Given the description of an element on the screen output the (x, y) to click on. 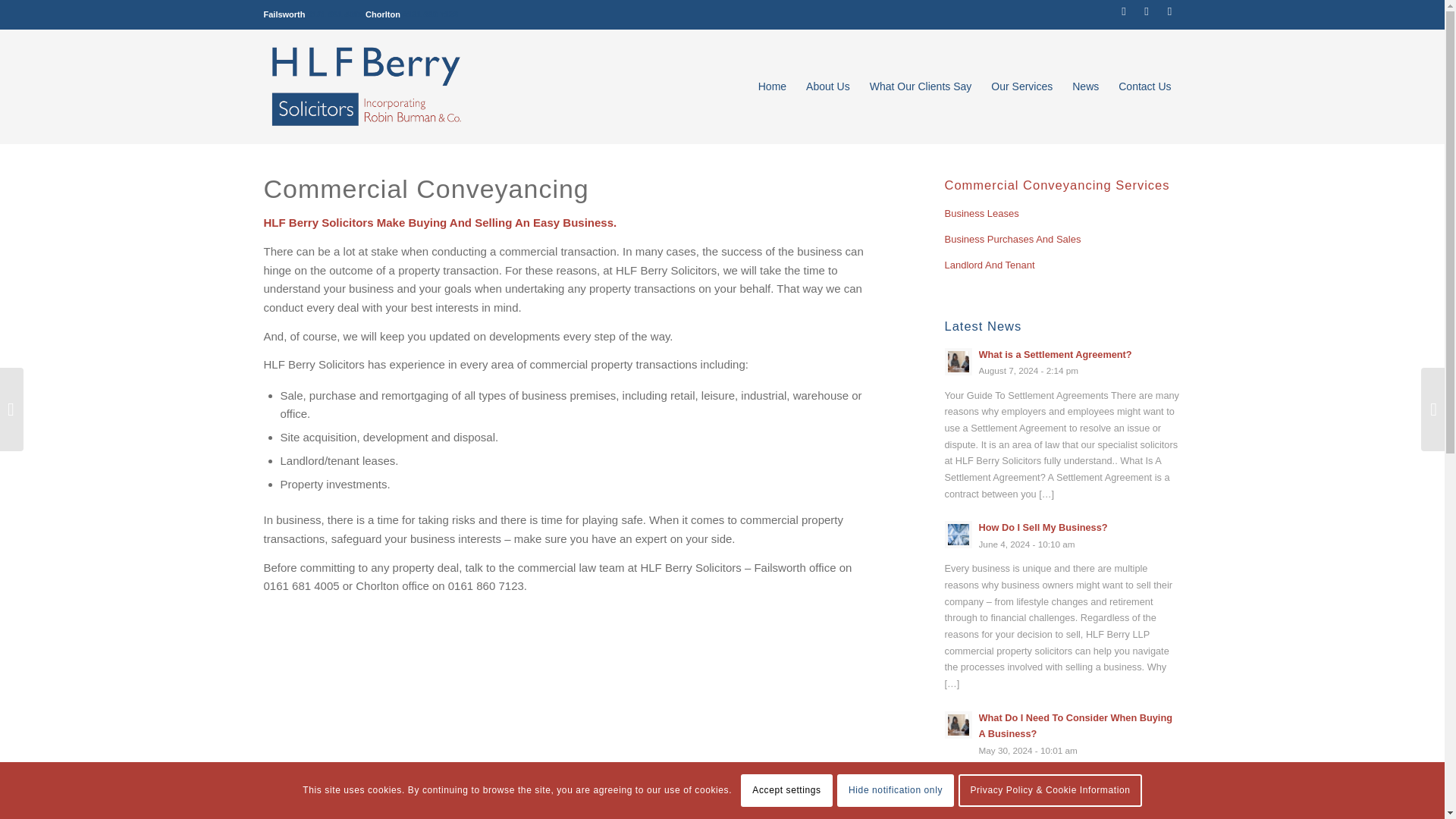
Landlord And Tenant (1062, 266)
Business Leases (1062, 214)
What is a Settlement Agreement? (1054, 354)
How Do I Sell My Business? (1042, 527)
Read: What Do I Need To Consider When Buying A Business? (958, 724)
X (1124, 11)
What Our Clients Say (920, 86)
LinkedIn (1146, 11)
What Do I Need To Consider When Buying A Business? (1075, 725)
Mail (1169, 11)
